Given the description of an element on the screen output the (x, y) to click on. 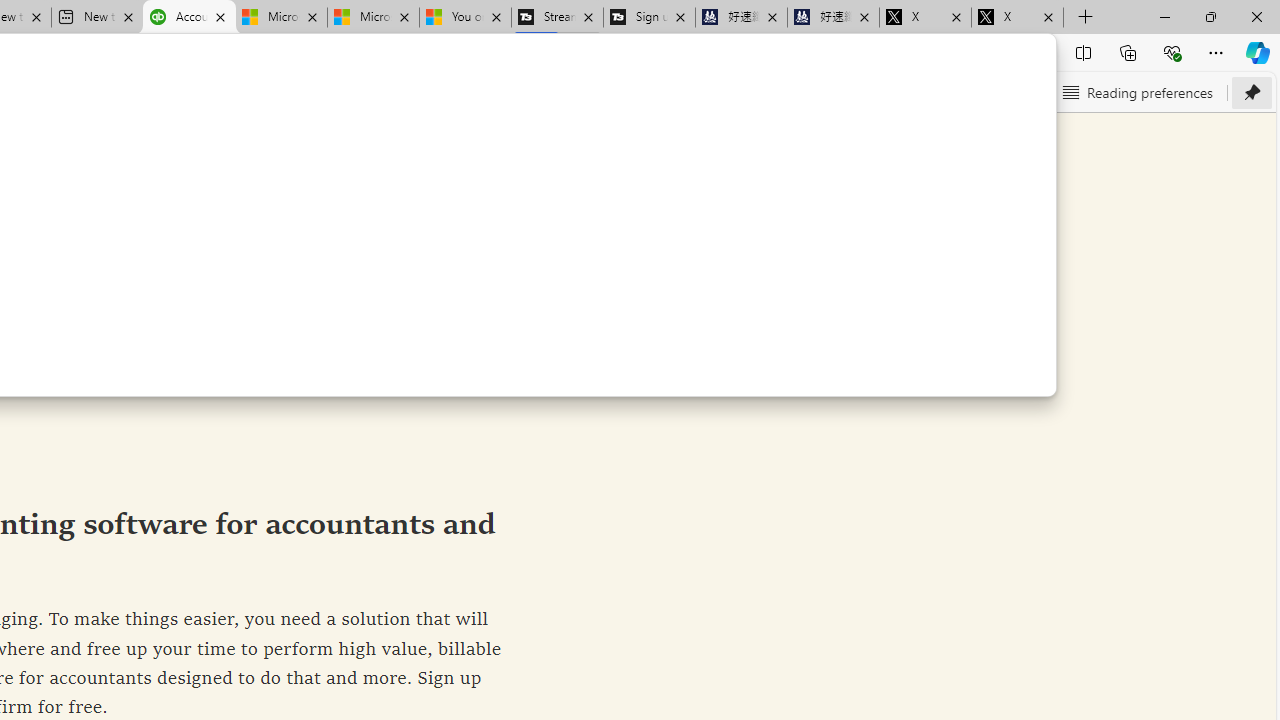
Streaming Coverage | T3 (557, 17)
Unpin toolbar (1252, 92)
Reading preferences (1136, 92)
Text preferences (976, 92)
